Given the description of an element on the screen output the (x, y) to click on. 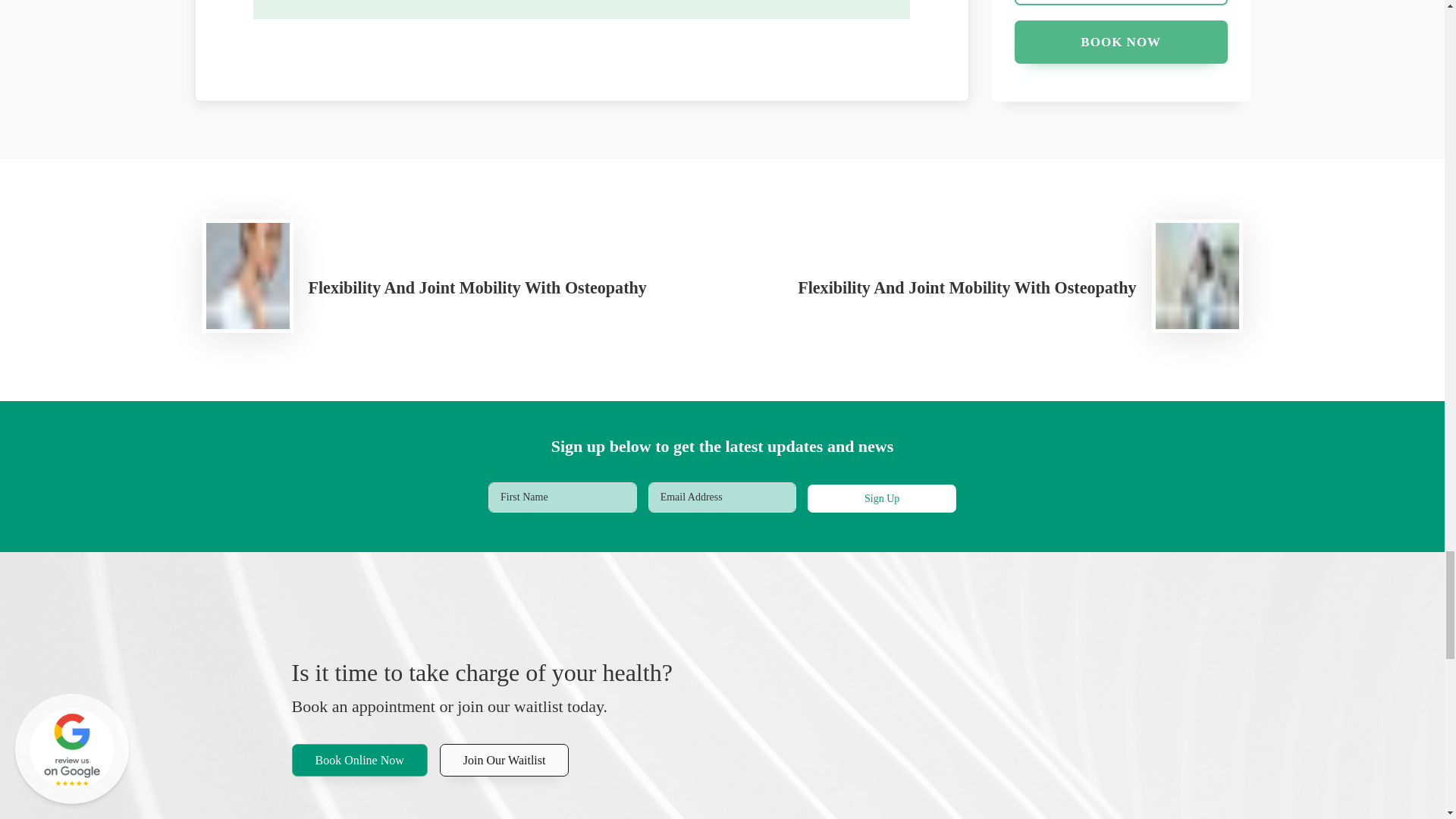
Join Our Waitlist (504, 760)
Book Online Now (358, 760)
Flexibility And Joint Mobility With Osteopathy (446, 287)
Flexibility And Joint Mobility With Osteopathy (995, 287)
Sign Up (882, 498)
